Given the description of an element on the screen output the (x, y) to click on. 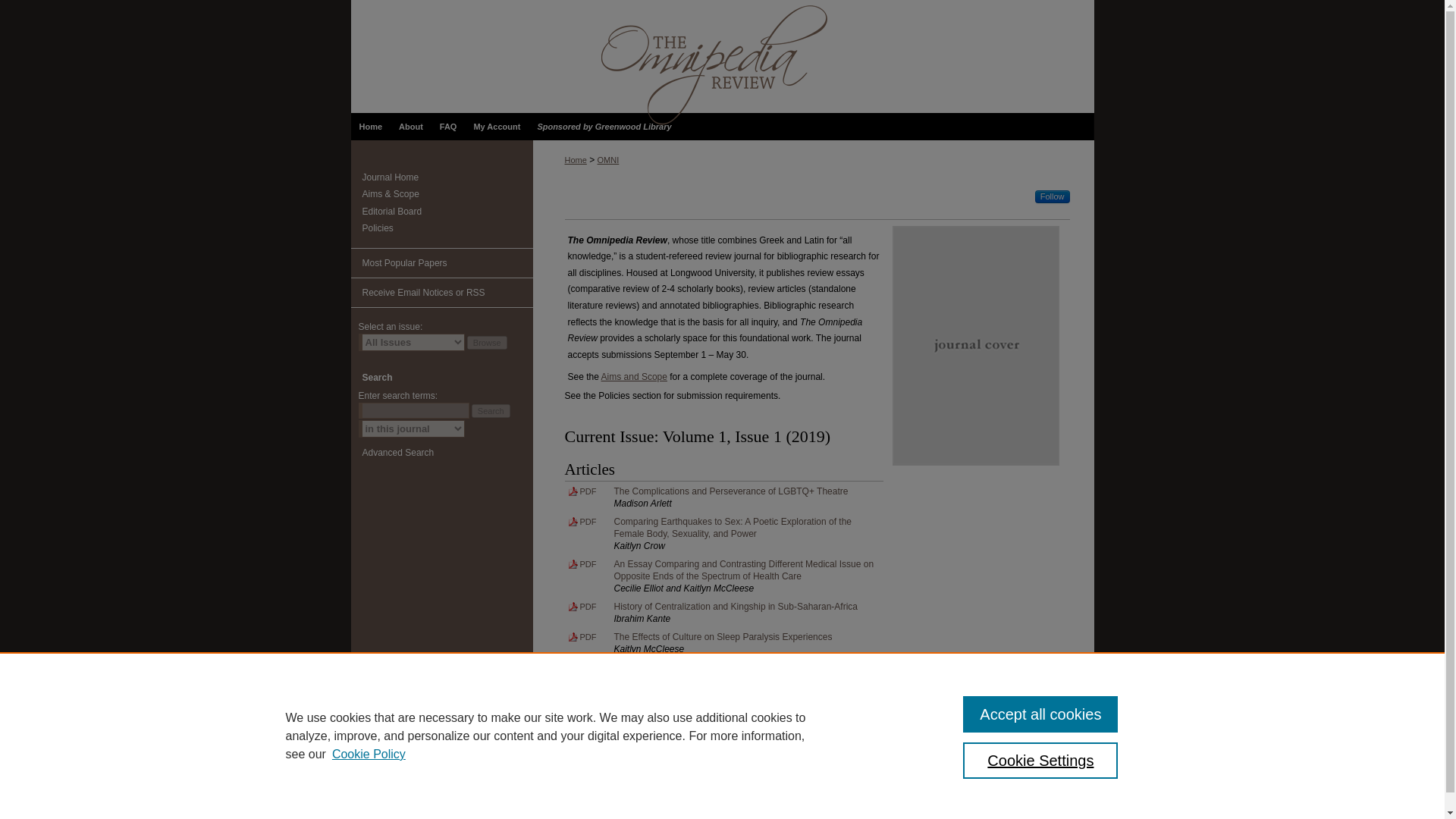
PDF (582, 489)
Most Popular Papers (441, 263)
Aims and Scope (633, 376)
The Omnipedia Review (721, 56)
Policies (447, 227)
PDF (582, 664)
PDF (582, 561)
Browse (486, 342)
PDF (582, 519)
Search (491, 410)
Receive Email Notices or RSS (441, 292)
The Omnipedia Review (447, 176)
Home (370, 126)
Search (491, 410)
